Given the description of an element on the screen output the (x, y) to click on. 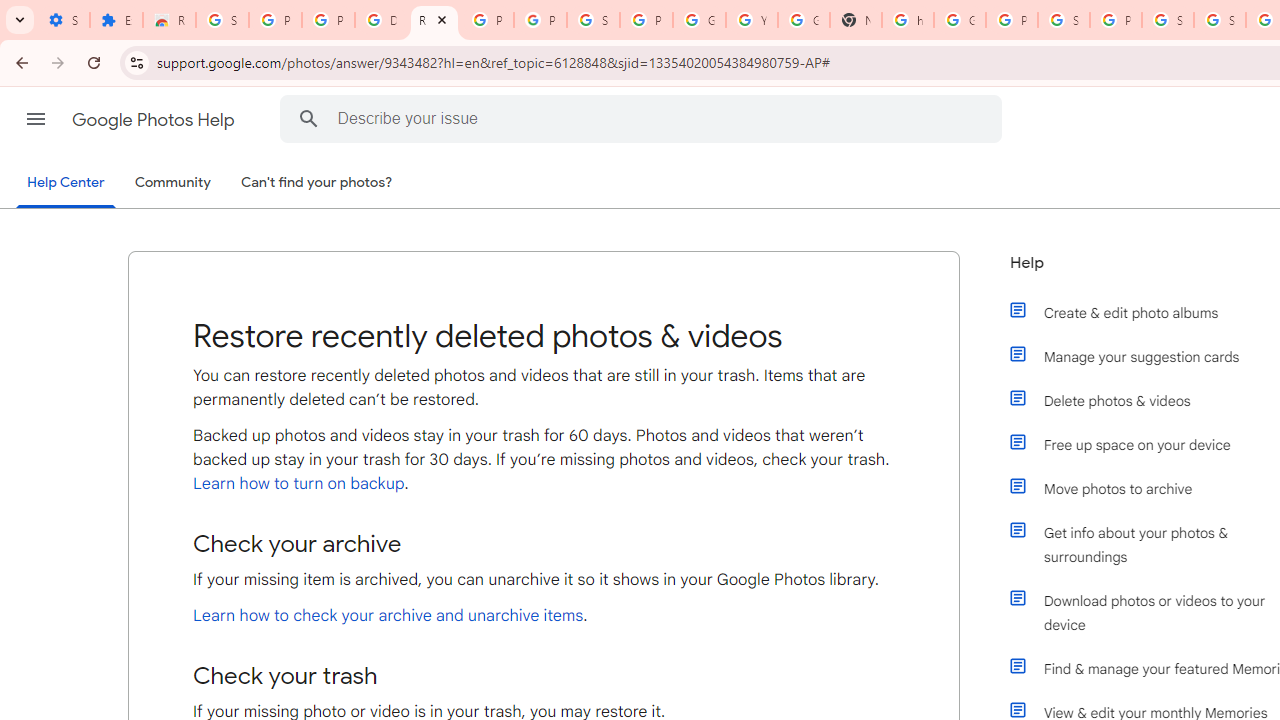
Can't find your photos? (317, 183)
Delete photos & videos - Computer - Google Photos Help (381, 20)
Reviews: Helix Fruit Jump Arcade Game (169, 20)
Google Photos Help (155, 119)
https://scholar.google.com/ (907, 20)
Extensions (116, 20)
